Given the description of an element on the screen output the (x, y) to click on. 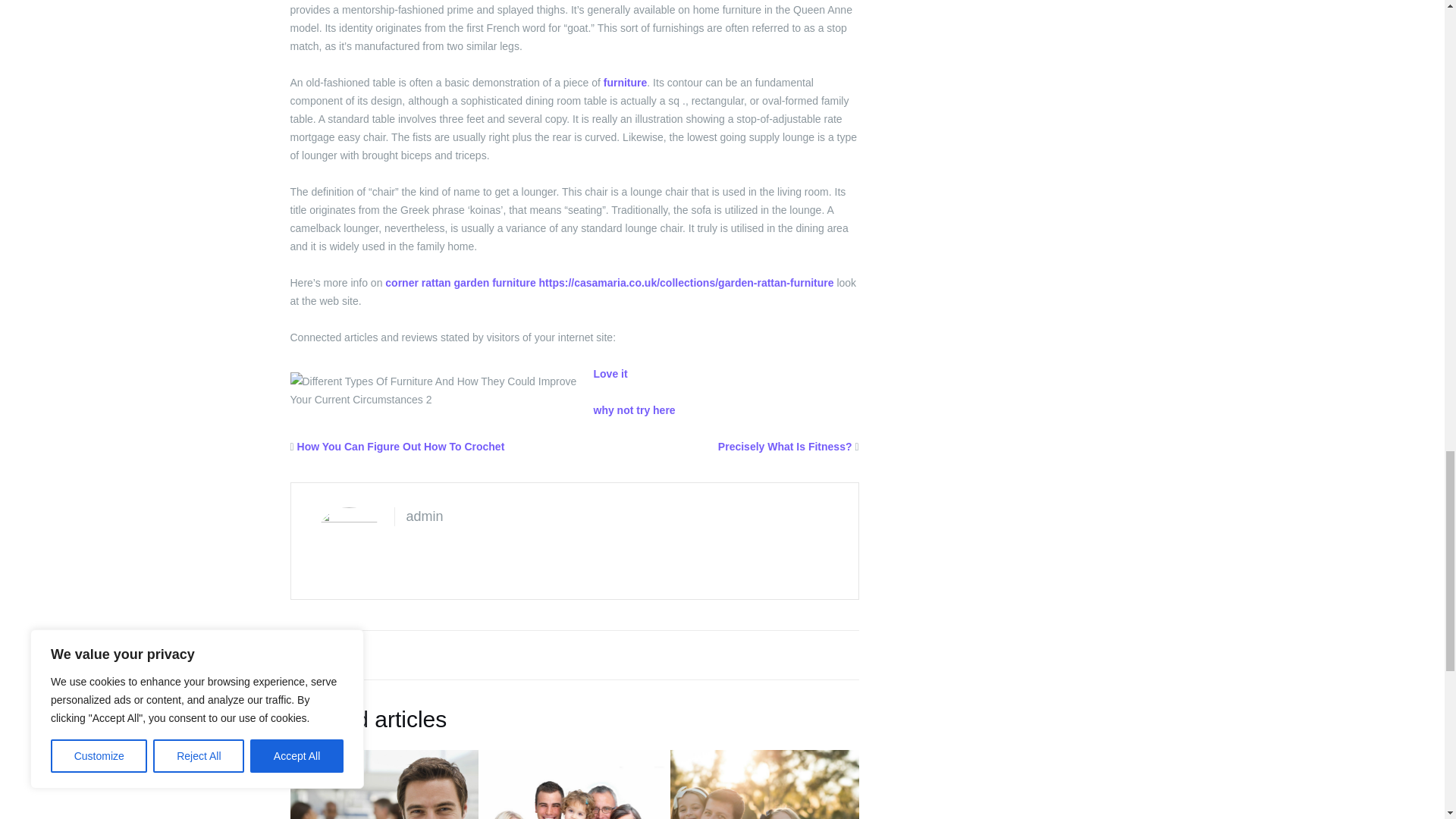
ideas (315, 654)
Love it (609, 373)
How You Can Figure Out How To Crochet (401, 446)
furniture (625, 82)
Precisely What Is Fitness? (784, 446)
why not try here (633, 410)
